Given the description of an element on the screen output the (x, y) to click on. 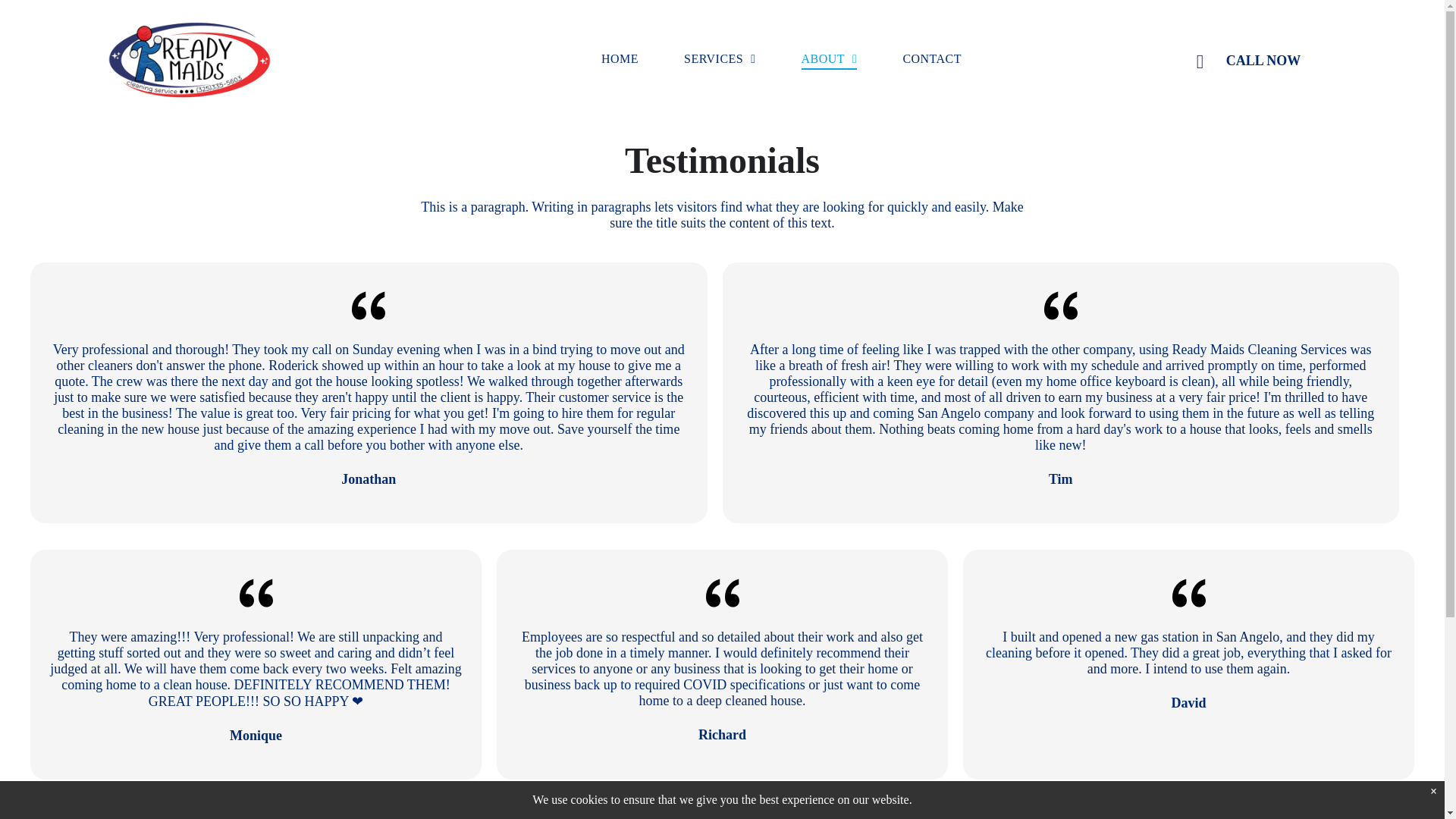
CONTACT (931, 58)
HOME (619, 58)
CALL NOW (1292, 60)
ABOUT (829, 58)
SERVICES (719, 58)
